Given the description of an element on the screen output the (x, y) to click on. 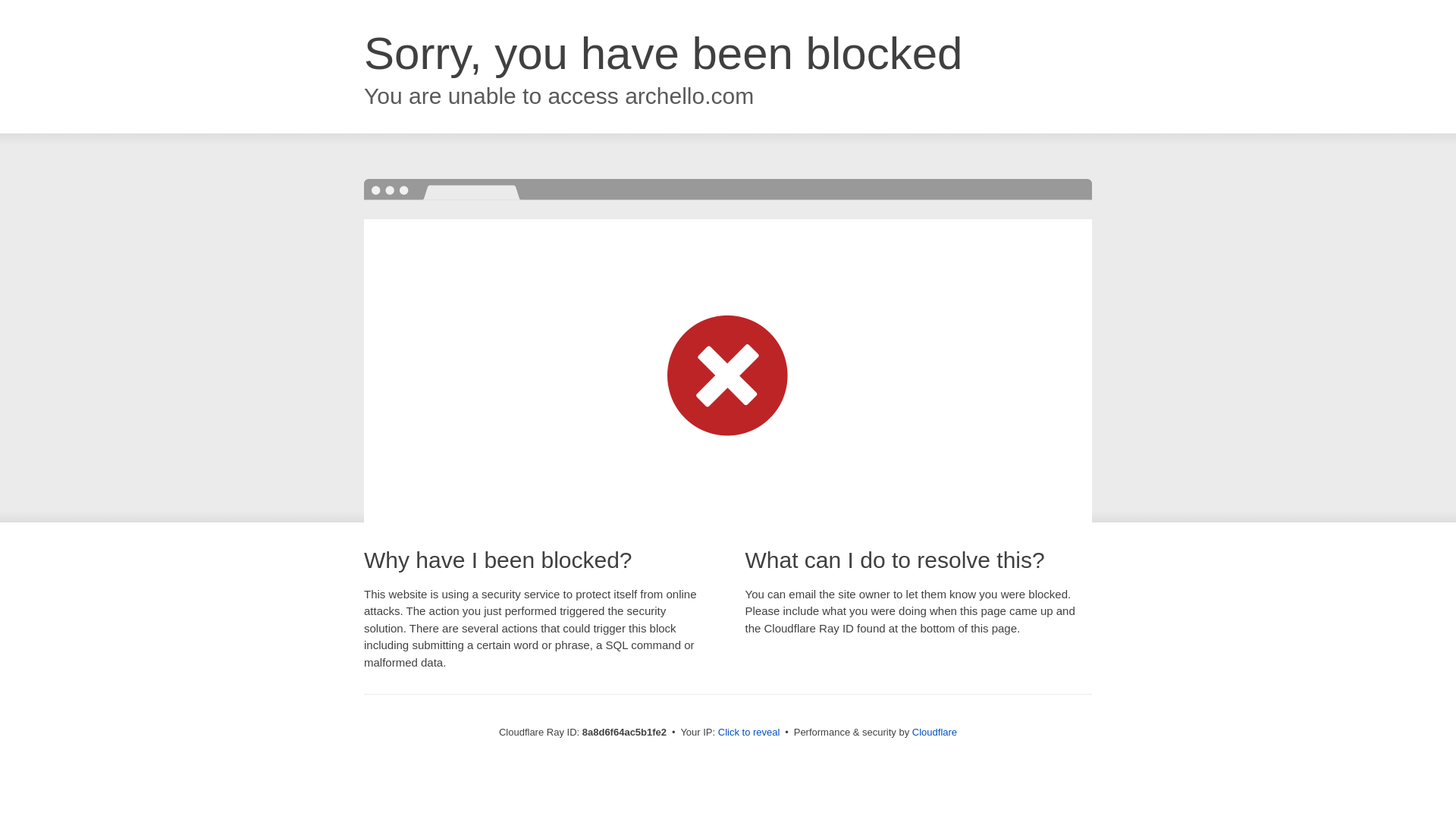
Click to reveal (748, 732)
Cloudflare (934, 731)
